Given the description of an element on the screen output the (x, y) to click on. 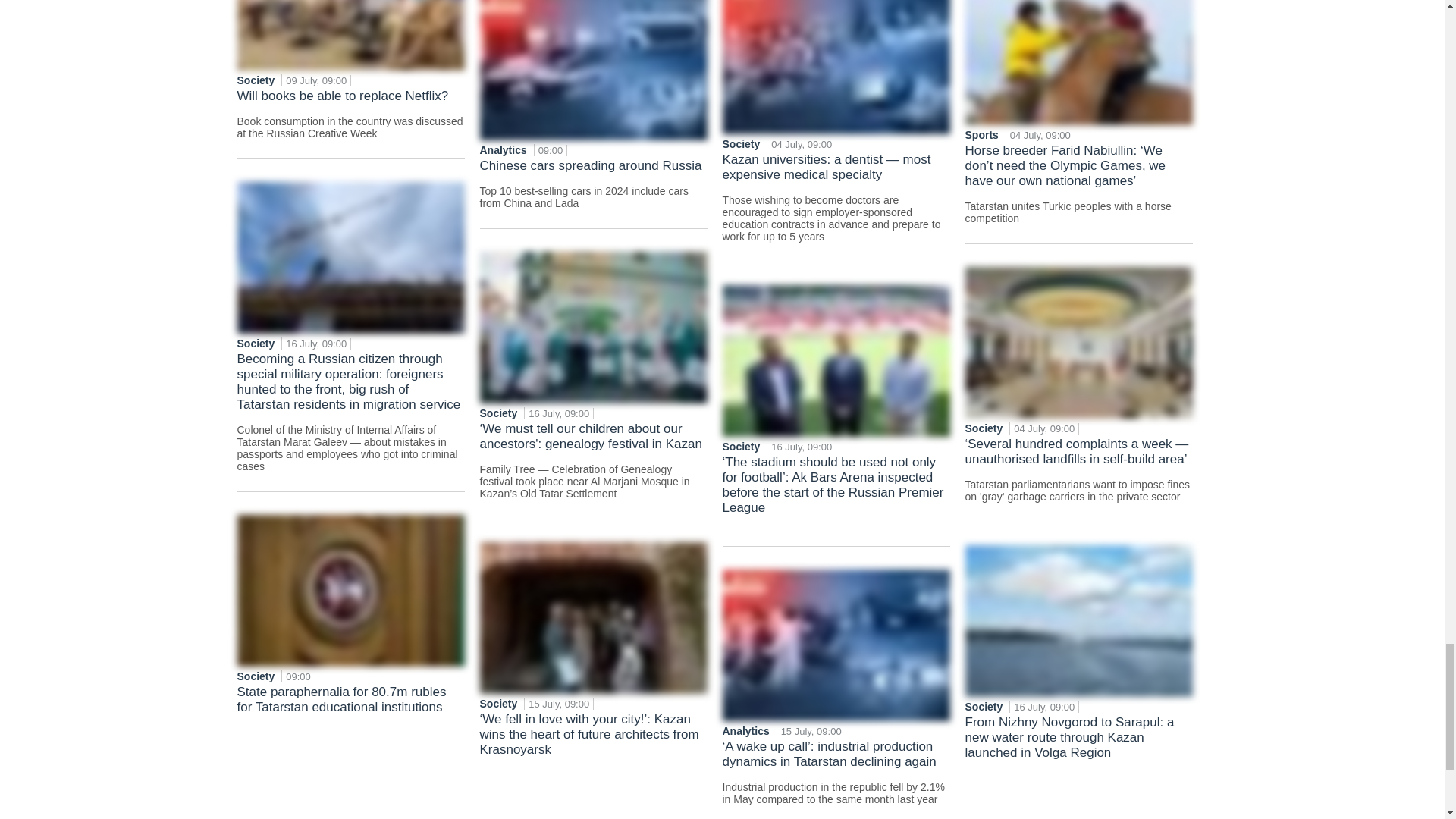
Society (256, 676)
Society (256, 343)
Society (256, 80)
